Given the description of an element on the screen output the (x, y) to click on. 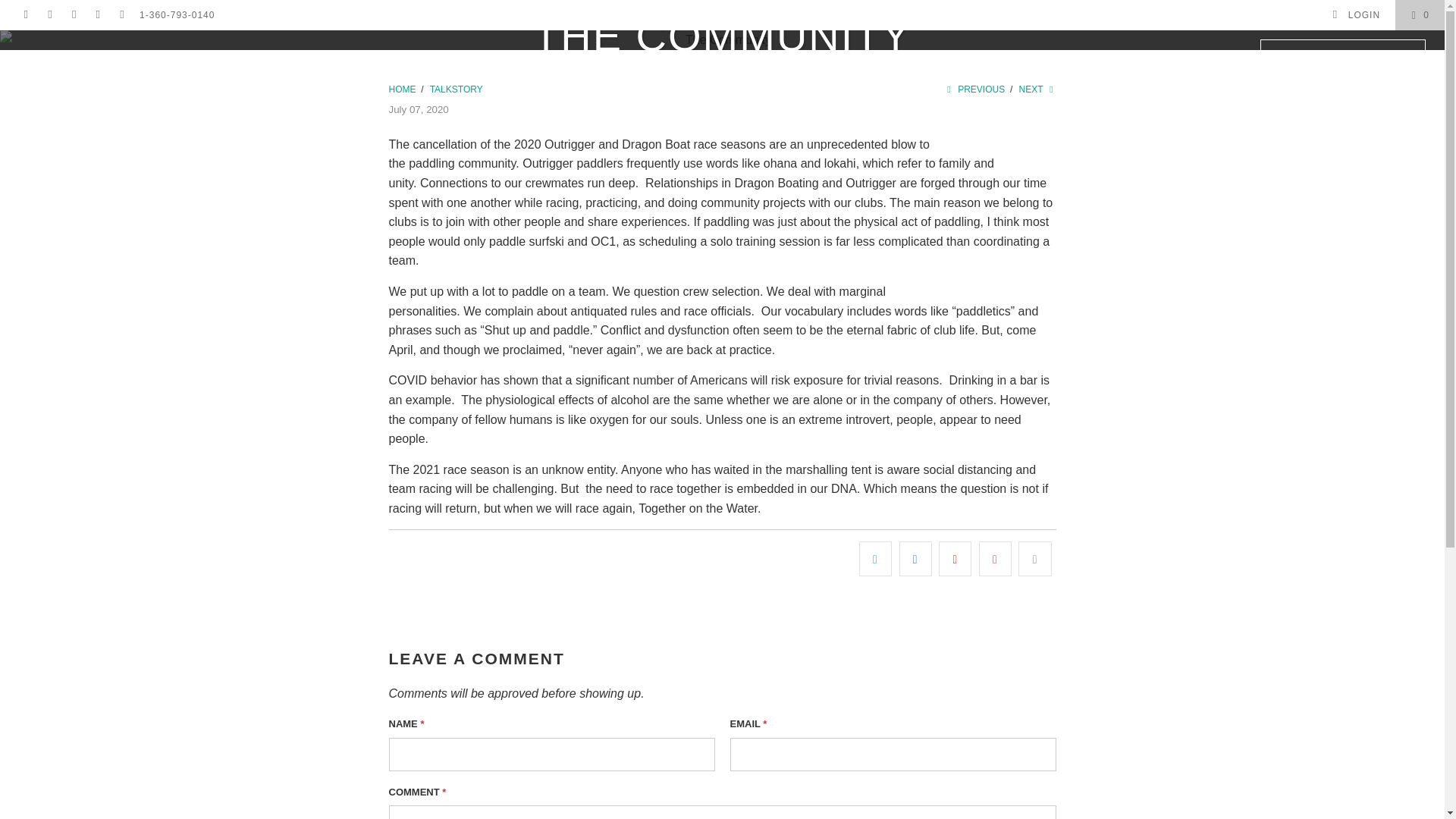
Share this on Facebook (915, 558)
1-360-793-0140 (176, 15)
SHOP (278, 55)
Share this on Twitter (875, 558)
KIALOA (729, 41)
KIALOA (401, 89)
TalkStory (456, 89)
My Account  (1355, 15)
KIALOA on Facebook (49, 14)
KIALOA on YouTube (73, 14)
